Given the description of an element on the screen output the (x, y) to click on. 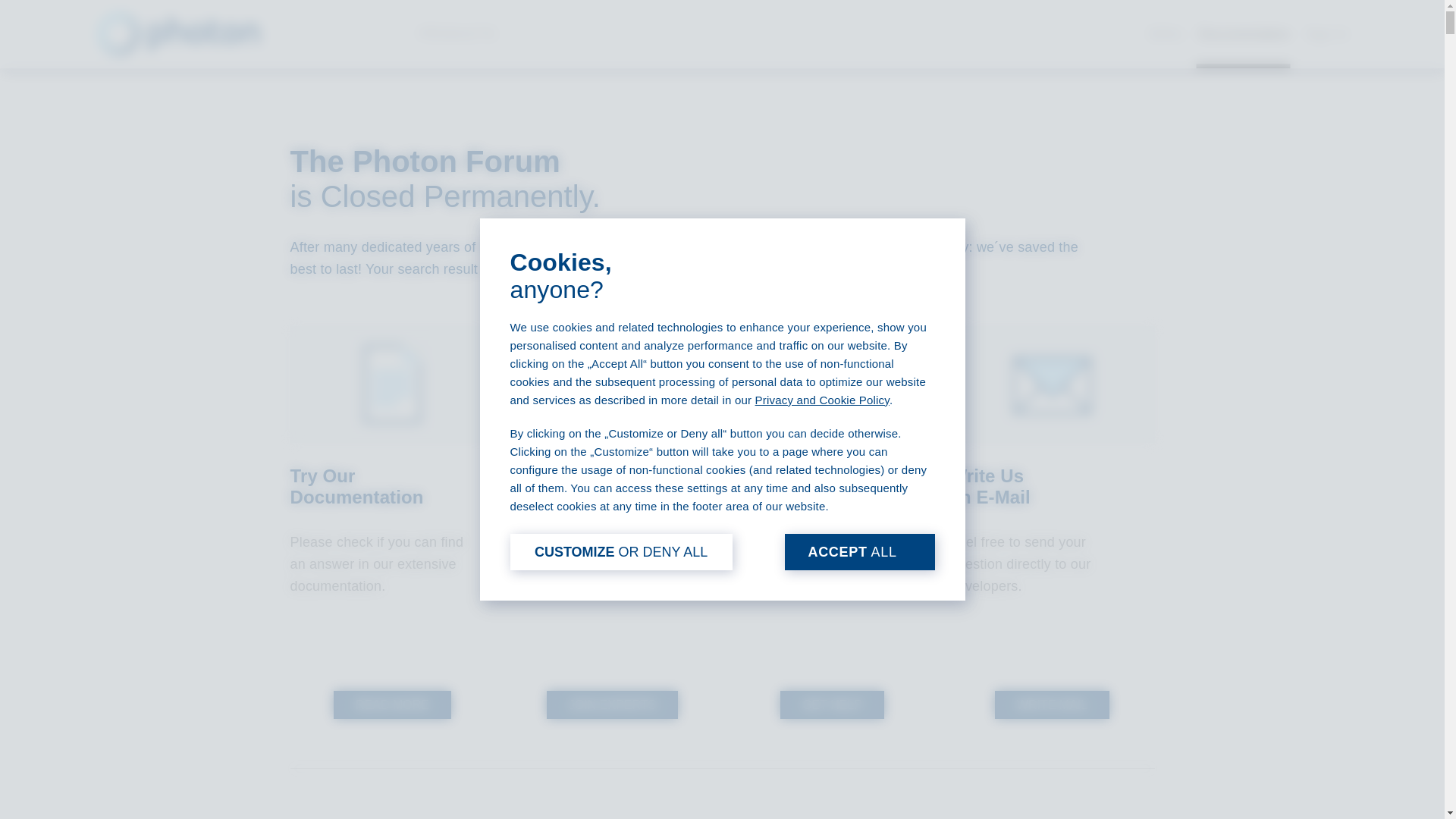
PRODUCTS (466, 33)
JOIN EXPERTS (612, 705)
WRITE MAIL (1051, 705)
READ MORE (392, 705)
GET HELP (831, 705)
Documentation (1244, 33)
